Given the description of an element on the screen output the (x, y) to click on. 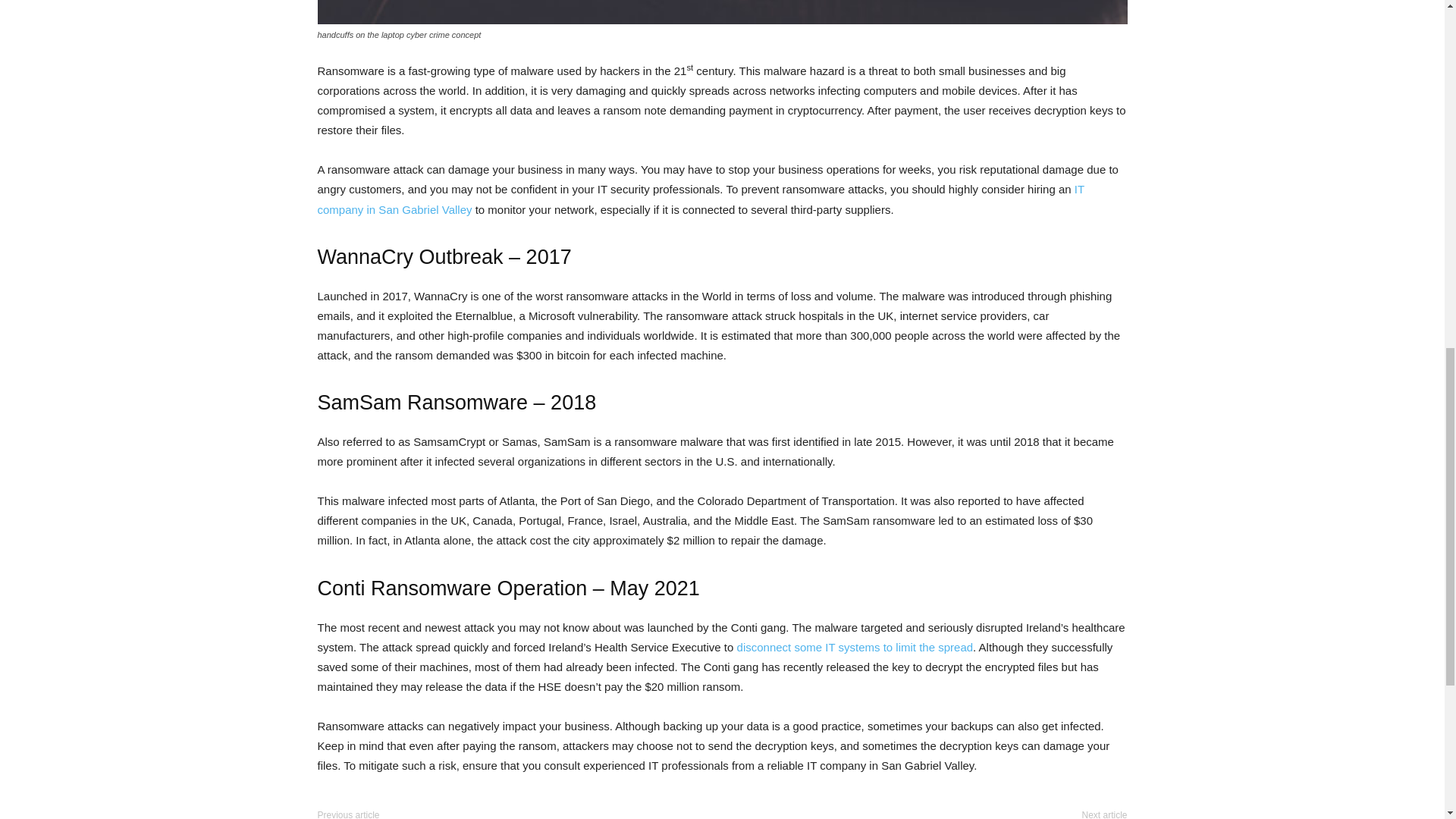
disconnect some IT systems to limit the spread (855, 646)
IT company in San Gabriel Valley (700, 198)
